Given the description of an element on the screen output the (x, y) to click on. 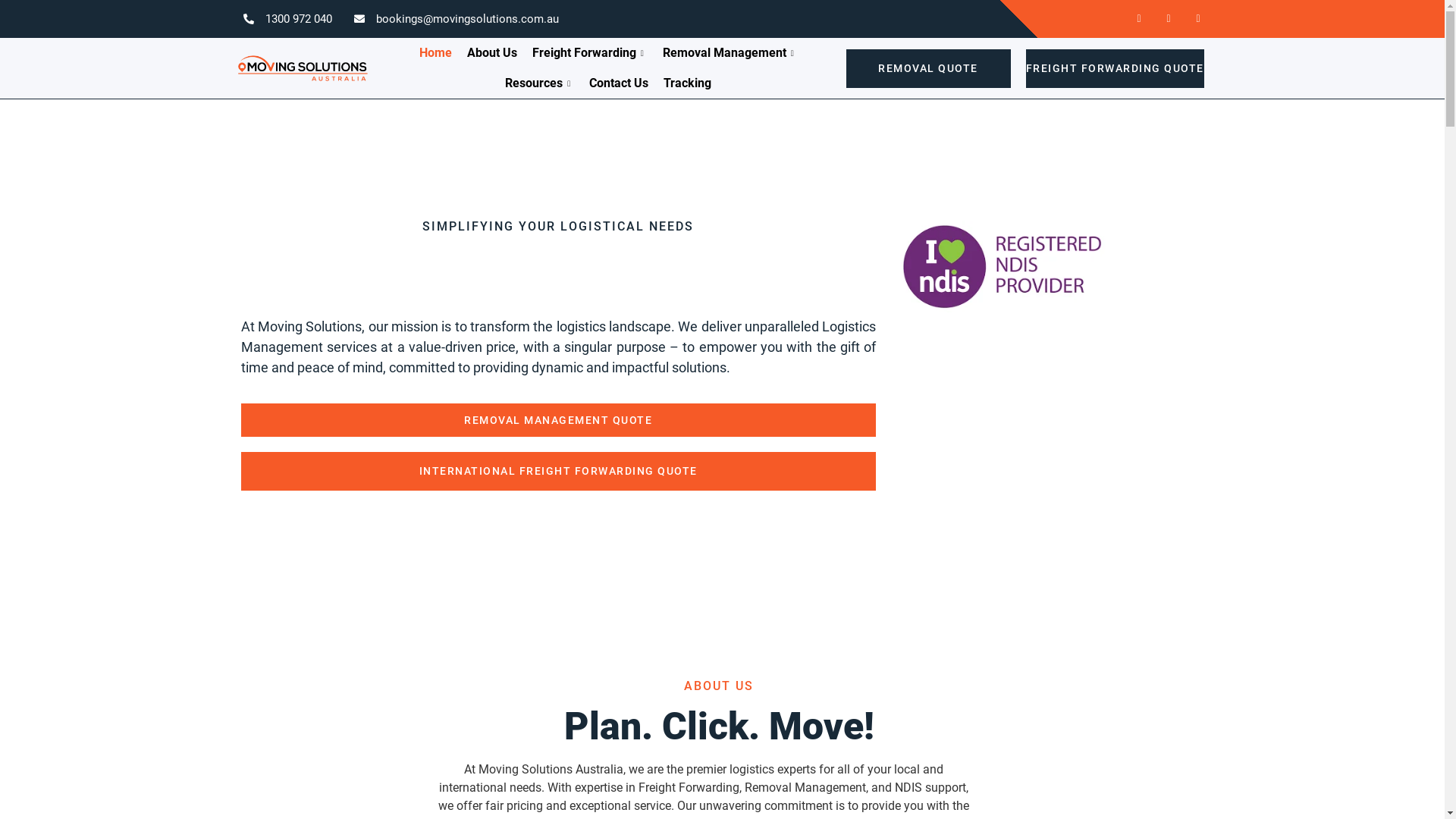
About Us Element type: text (491, 52)
FREIGHT FORWARDING QUOTE Element type: text (1114, 67)
REMOVAL QUOTE Element type: text (928, 67)
REMOVAL MANAGEMENT QUOTE Element type: text (558, 419)
Removal Management Element type: text (730, 52)
Tracking Element type: text (686, 83)
Resources Element type: text (539, 83)
Freight Forwarding Element type: text (589, 52)
Home Element type: text (435, 52)
Contact Us Element type: text (618, 83)
INTERNATIONAL FREIGHT FORWARDING QUOTE Element type: text (558, 470)
